Given the description of an element on the screen output the (x, y) to click on. 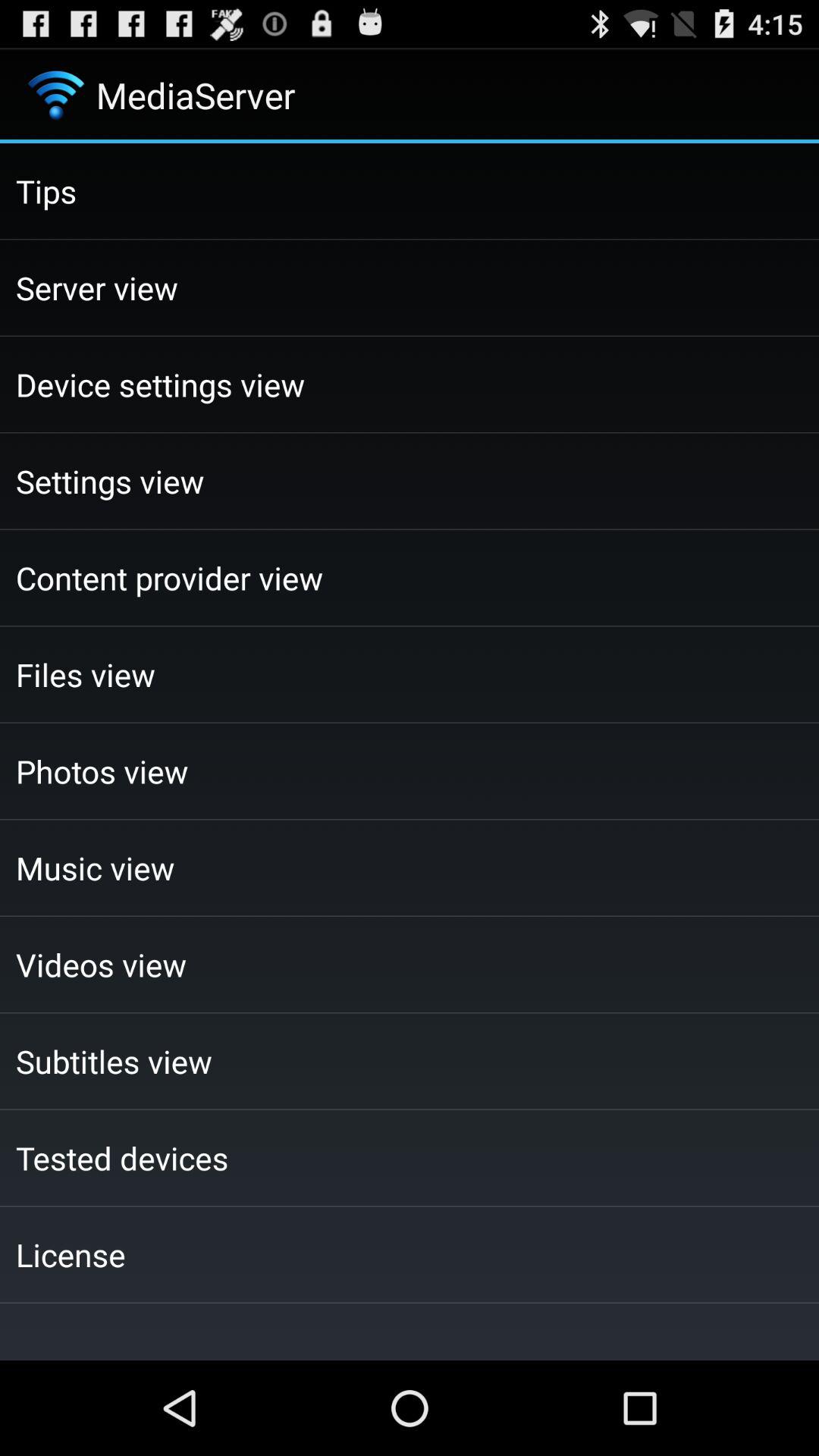
press the photos view checkbox (409, 771)
